Given the description of an element on the screen output the (x, y) to click on. 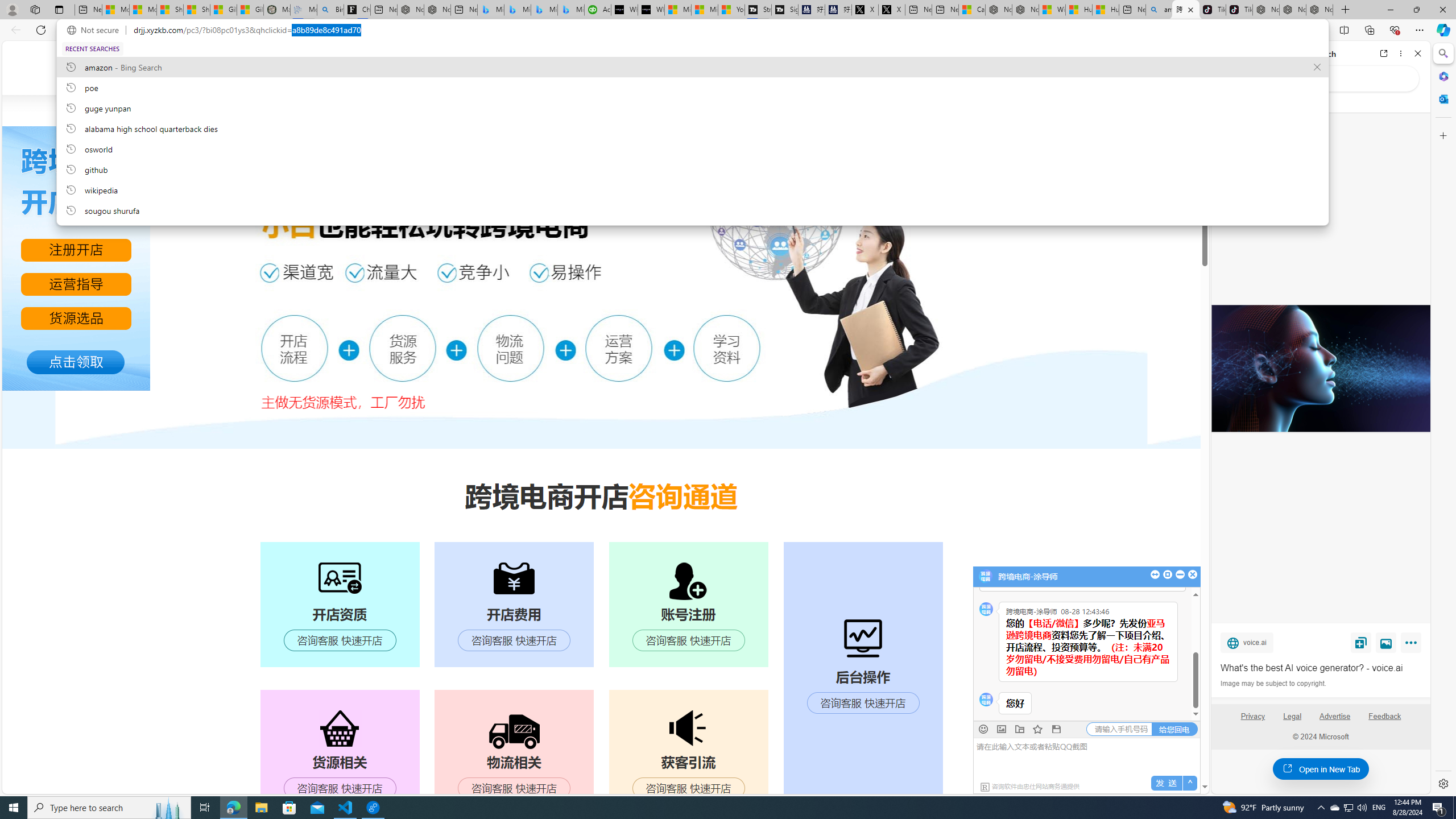
AutomationID: tel (1118, 729)
guge yunpan, recent searches from history (691, 107)
Search the web (1326, 78)
